Given the description of an element on the screen output the (x, y) to click on. 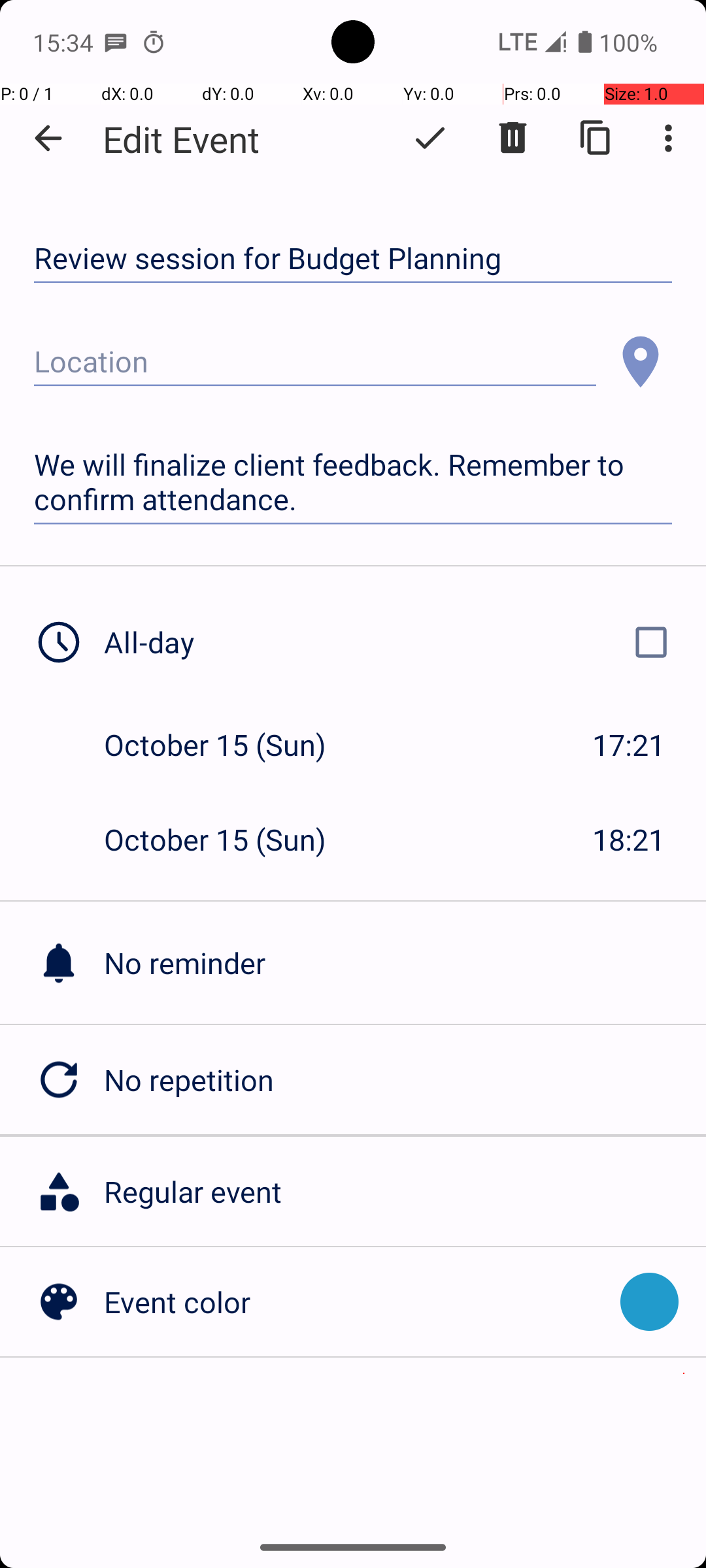
We will finalize client feedback. Remember to confirm attendance. Element type: android.widget.EditText (352, 482)
17:21 Element type: android.widget.TextView (628, 744)
18:21 Element type: android.widget.TextView (628, 838)
